Given the description of an element on the screen output the (x, y) to click on. 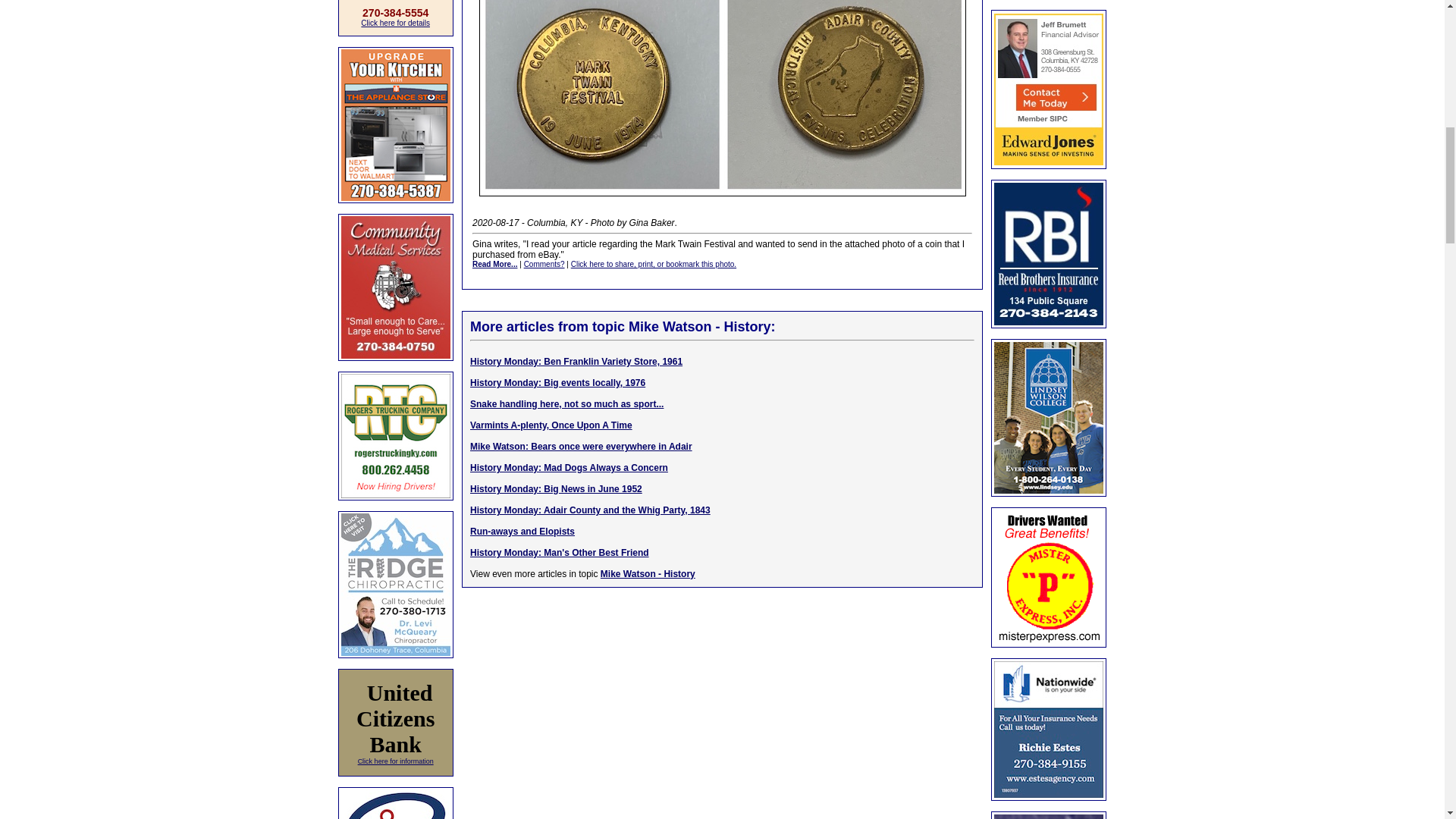
Click here for details (395, 22)
Click here for information (395, 760)
